Given the description of an element on the screen output the (x, y) to click on. 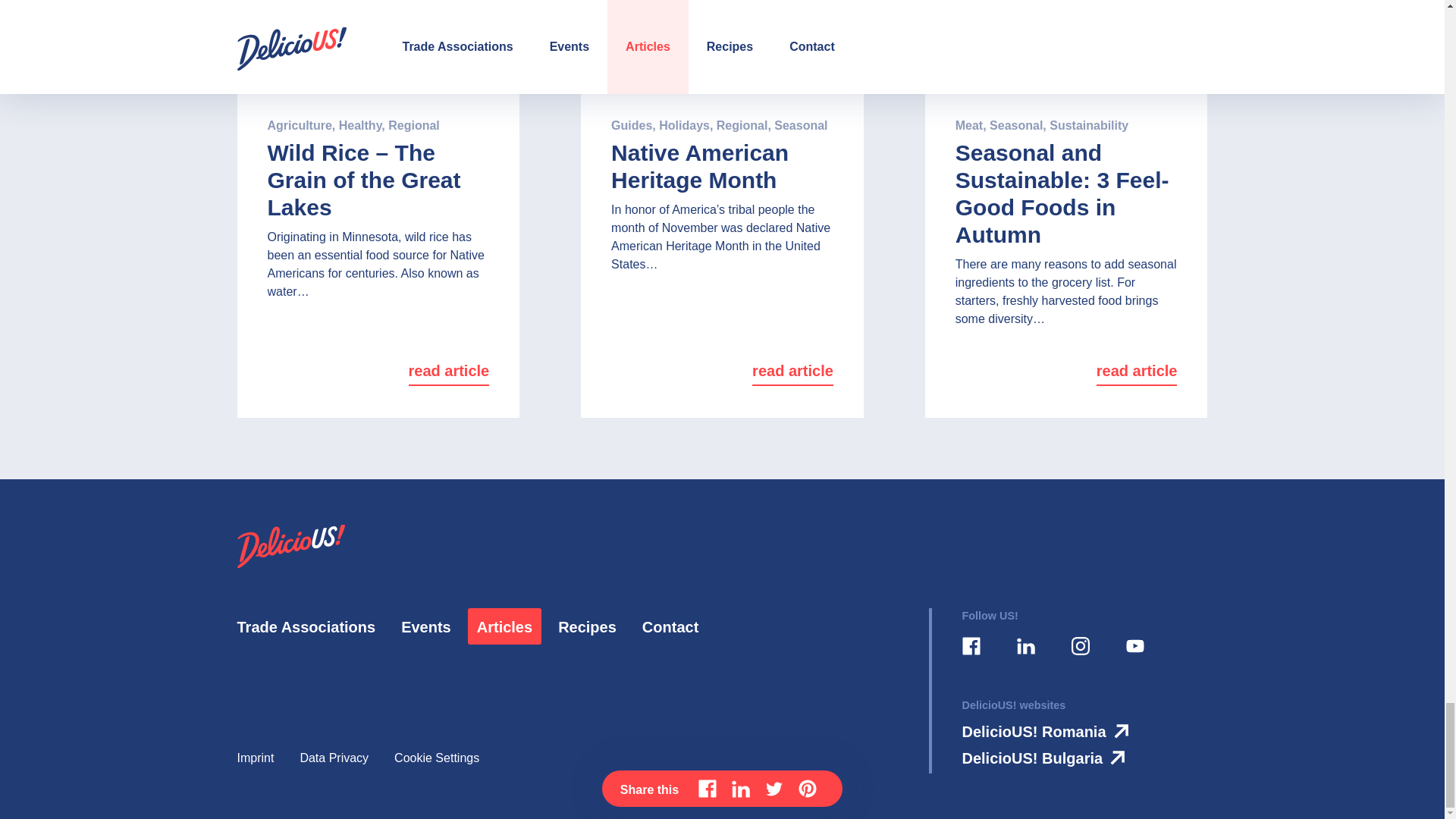
Instagram (1079, 645)
YouTube (1134, 645)
LinkedIn (1025, 645)
DelicioUS! Romania (1047, 731)
Facebook (970, 645)
Trade Associations (305, 627)
DelicioUS! Bulgaria (1046, 757)
